Given the description of an element on the screen output the (x, y) to click on. 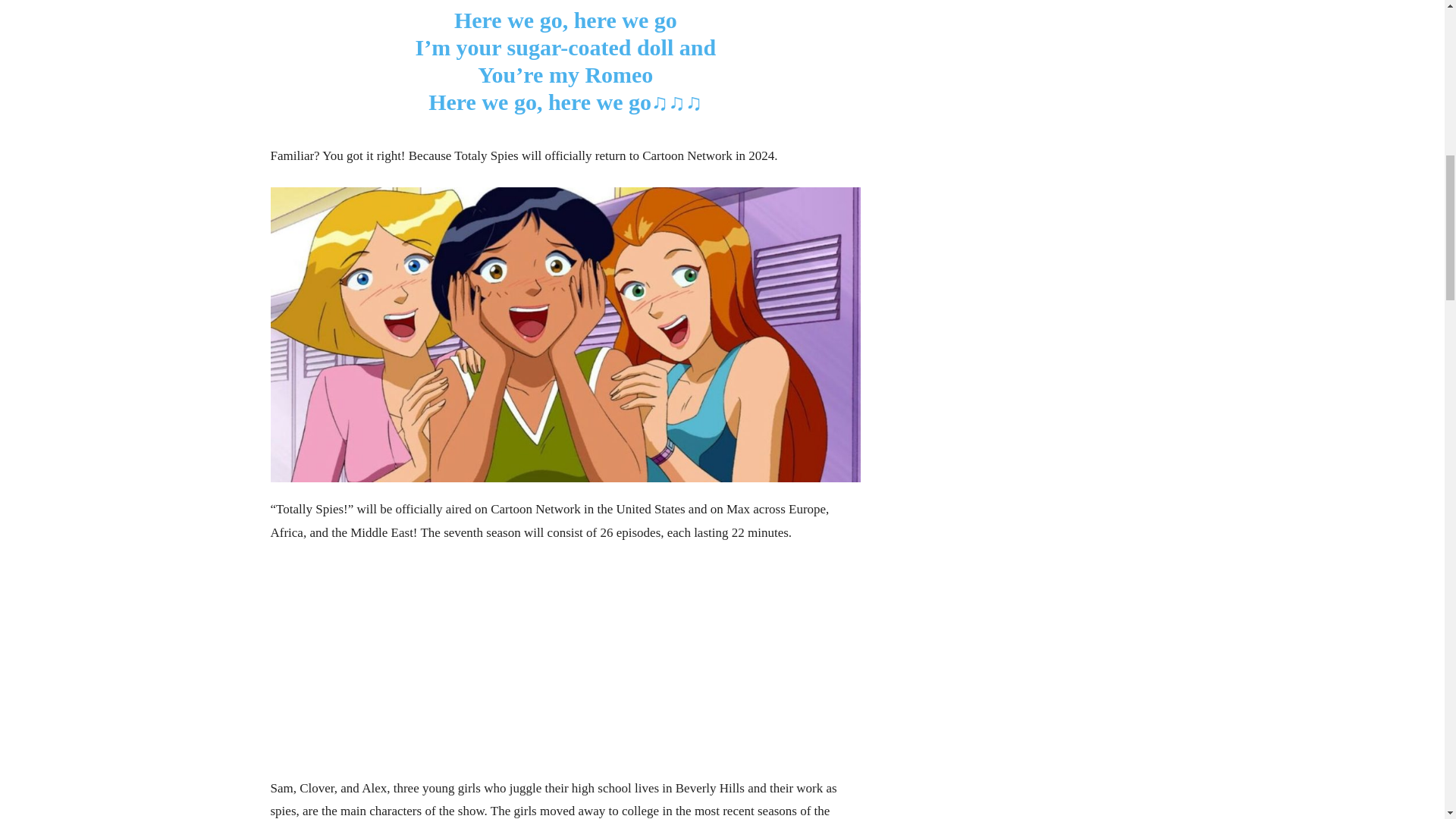
Advertisement (564, 671)
